Given the description of an element on the screen output the (x, y) to click on. 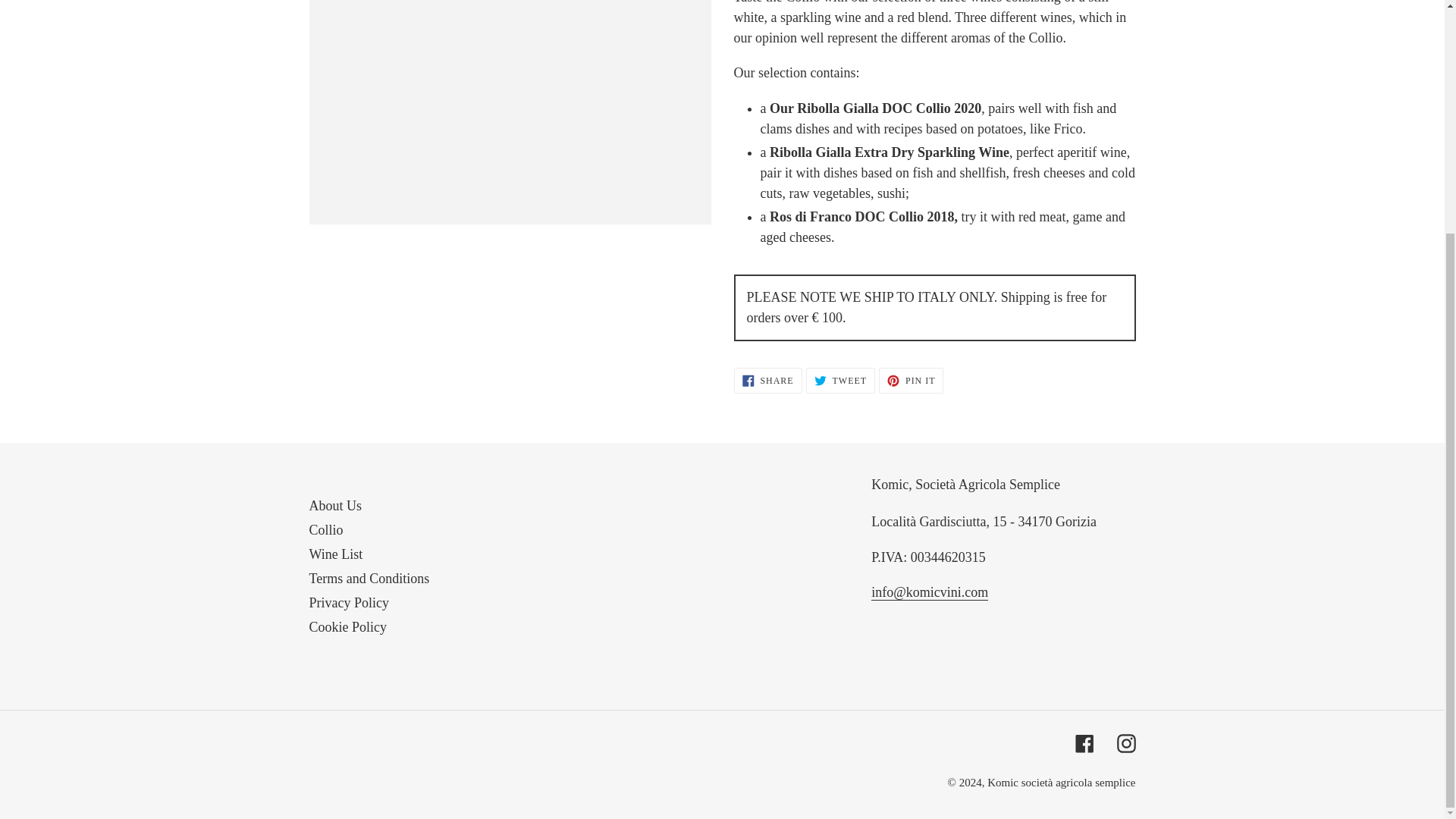
Cookie Policy (347, 626)
Wine List (335, 554)
Instagram (1125, 742)
Privacy Policy (767, 380)
Facebook (349, 602)
About Us (911, 380)
Terms and Conditions (840, 380)
